Given the description of an element on the screen output the (x, y) to click on. 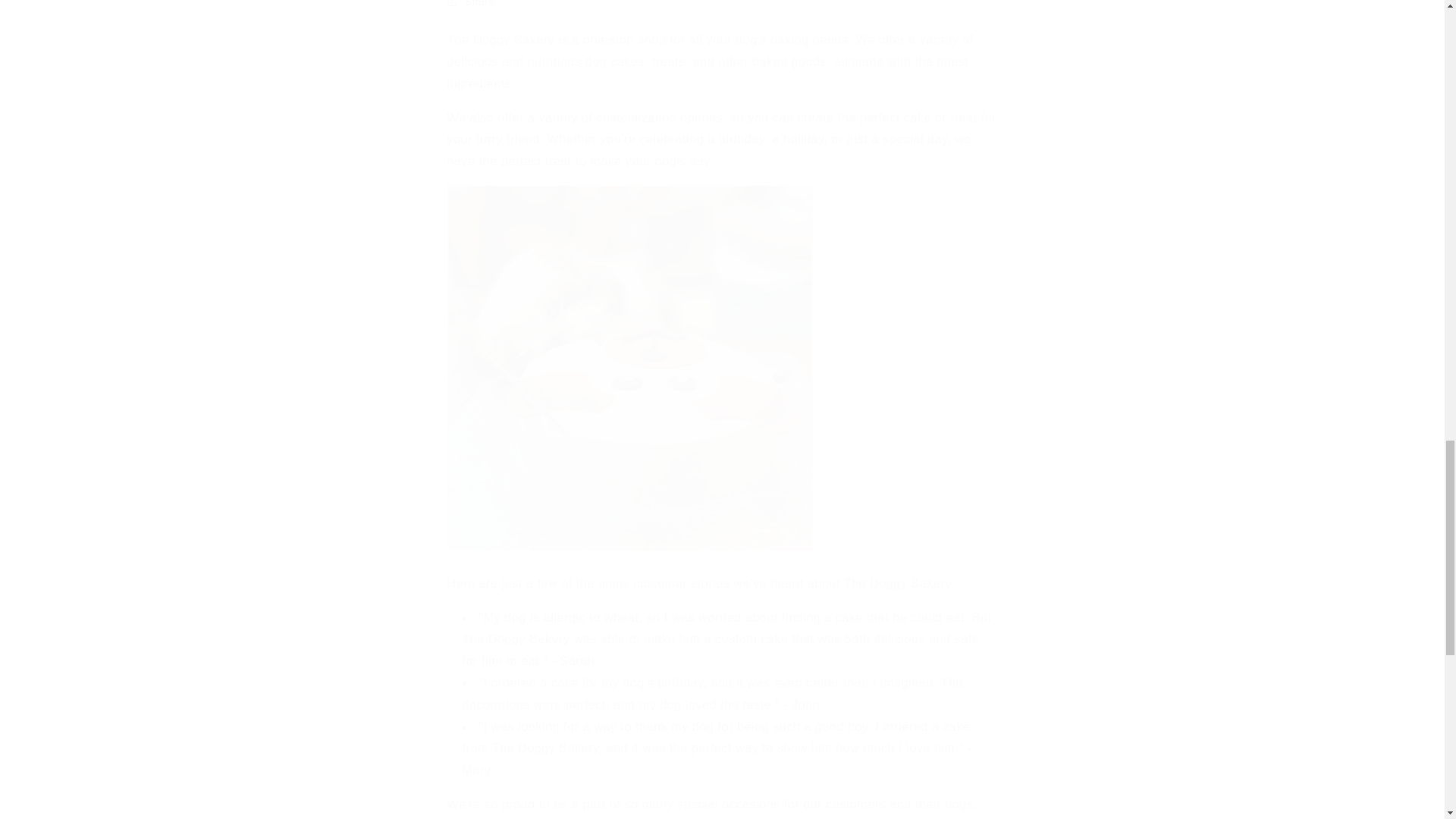
Share (721, 9)
